Given the description of an element on the screen output the (x, y) to click on. 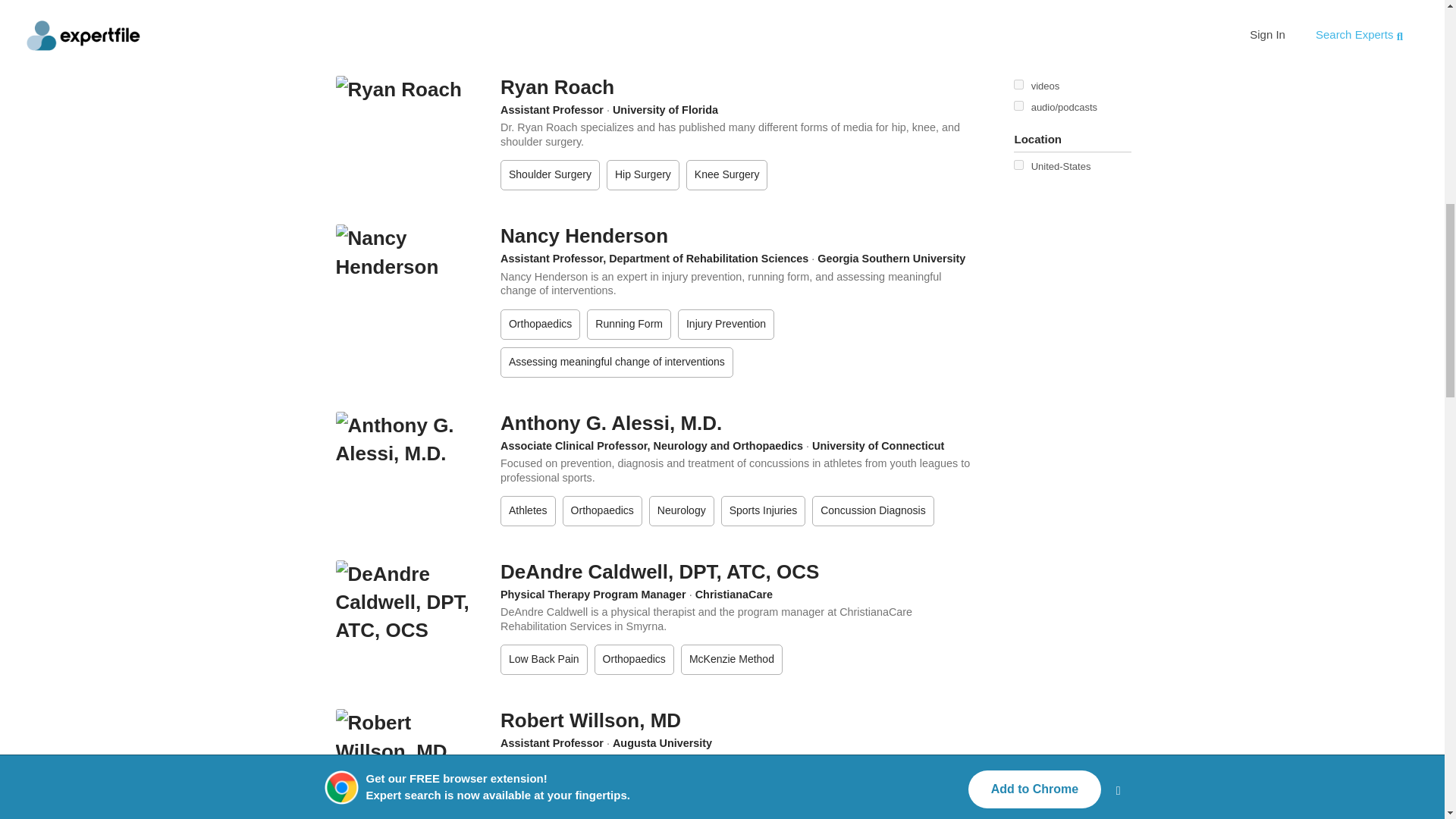
Anthony G. Alessi, M.D. (611, 422)
Robert Willson, MD (590, 720)
DeAndre Caldwell, DPT, ATC, OCS (659, 571)
Ryan Roach (557, 87)
Nancy Henderson (584, 235)
